Given the description of an element on the screen output the (x, y) to click on. 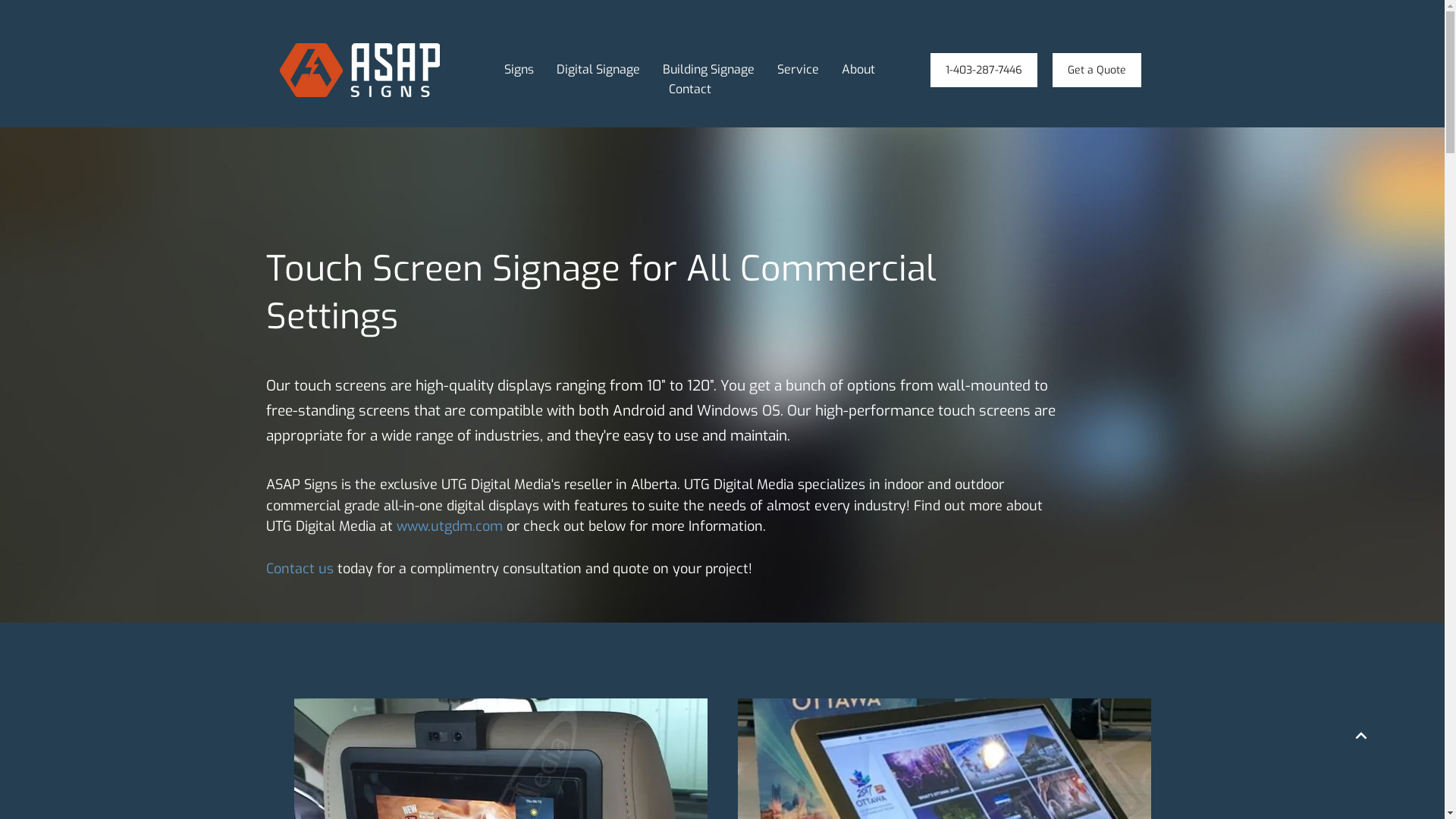
Signs Element type: text (518, 69)
Digital Signage Element type: text (598, 69)
www.utgdm.com Element type: text (448, 526)
Building Signage Element type: text (708, 69)
Service Element type: text (798, 69)
1-403-287-7446 Element type: text (982, 70)
Get a Quote Element type: text (1096, 70)
Contact Element type: text (689, 89)
